Given the description of an element on the screen output the (x, y) to click on. 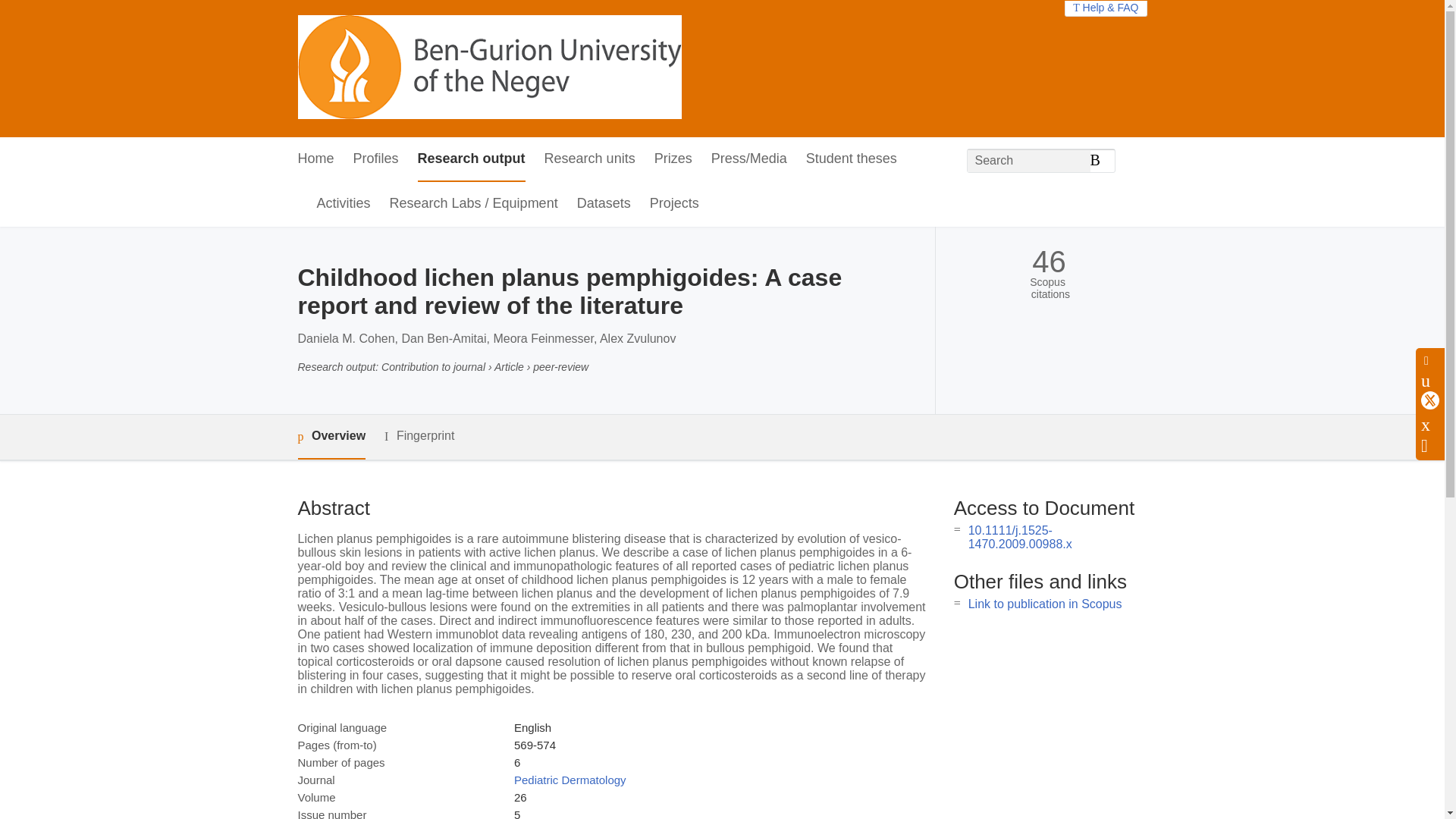
Overview (331, 436)
Pediatric Dermatology (569, 779)
Ben-Gurion University Research Portal Home (489, 68)
Link to publication in Scopus (1045, 603)
Projects (673, 203)
Activities (344, 203)
Fingerprint (419, 435)
Student theses (851, 159)
Profiles (375, 159)
